Given the description of an element on the screen output the (x, y) to click on. 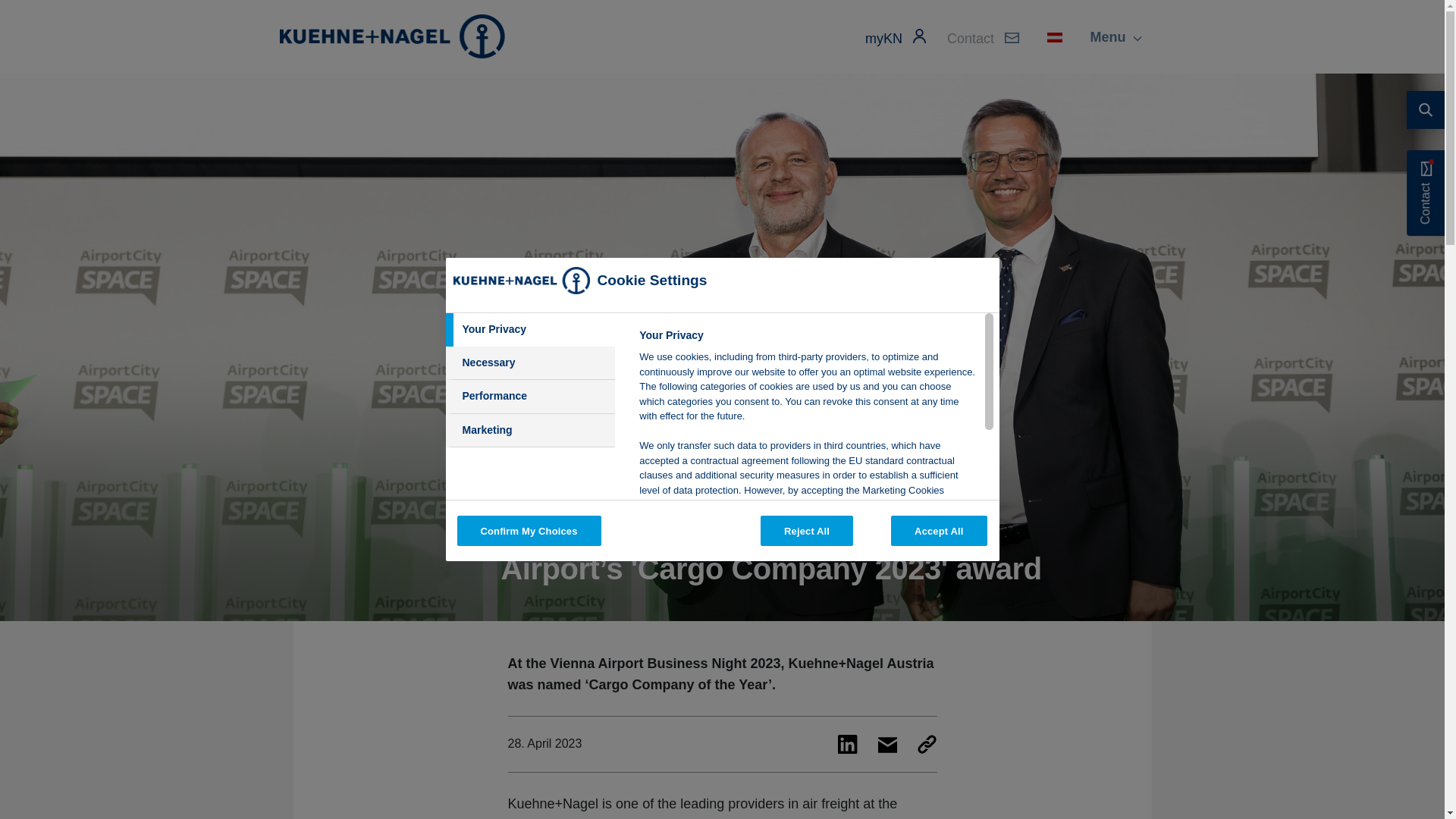
Go to Austria (391, 36)
myKN (895, 38)
Contact (983, 38)
